Given the description of an element on the screen output the (x, y) to click on. 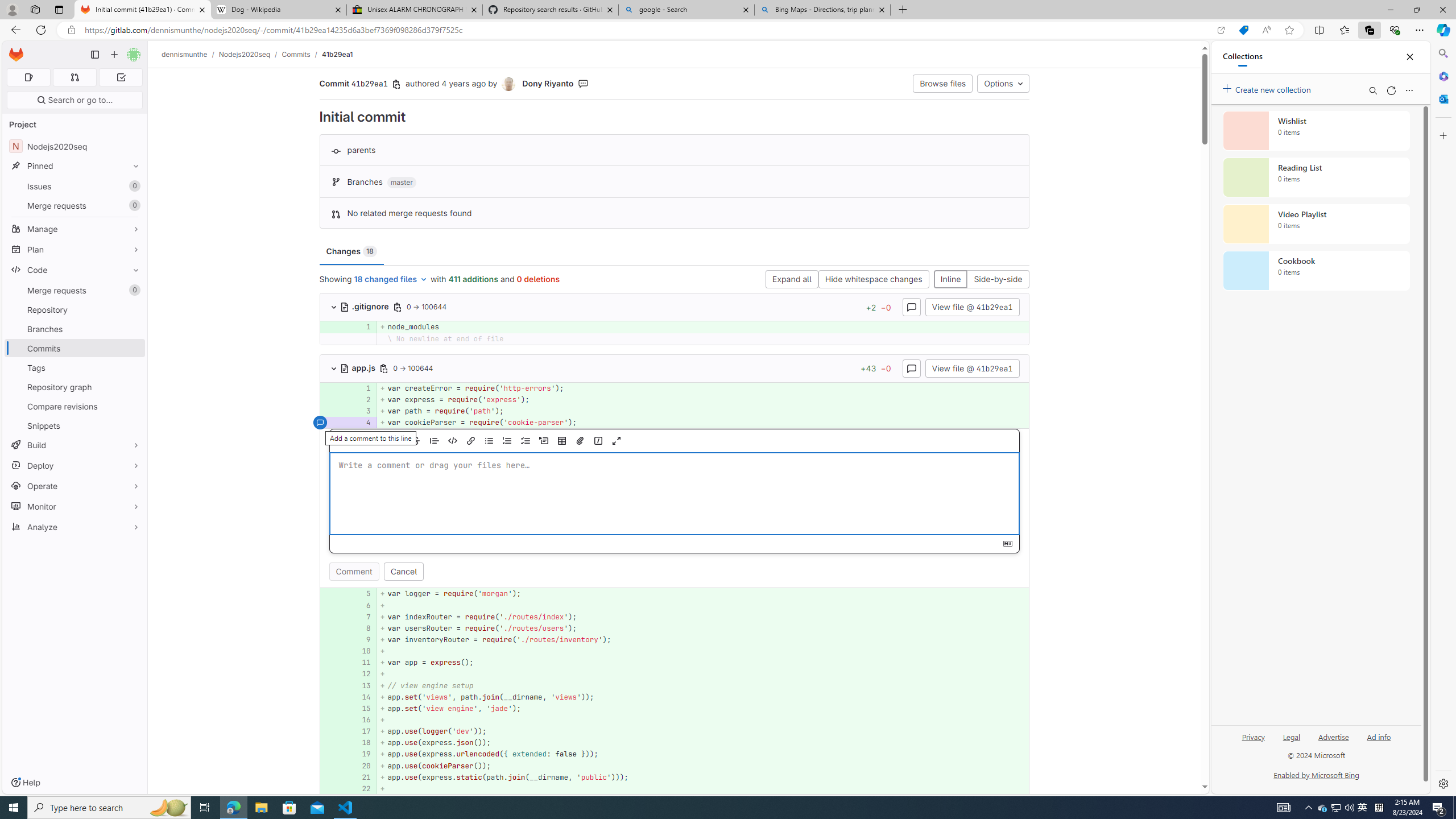
Cancel (402, 571)
Changes 18 (351, 251)
Add a checklist (525, 440)
6 (360, 605)
Plan (74, 248)
Merge requests0 (74, 289)
.gitignore  (365, 306)
12 (362, 674)
Pin Repository (132, 309)
Wishlist collection, 0 items (1316, 130)
Add a collapsible section (543, 440)
AutomationID: 4a68969ef8e858229267b842dedf42ab5dde4d50_0_9 (674, 639)
AutomationID: 4a68969ef8e858229267b842dedf42ab5dde4d50_0_8 (674, 627)
